Given the description of an element on the screen output the (x, y) to click on. 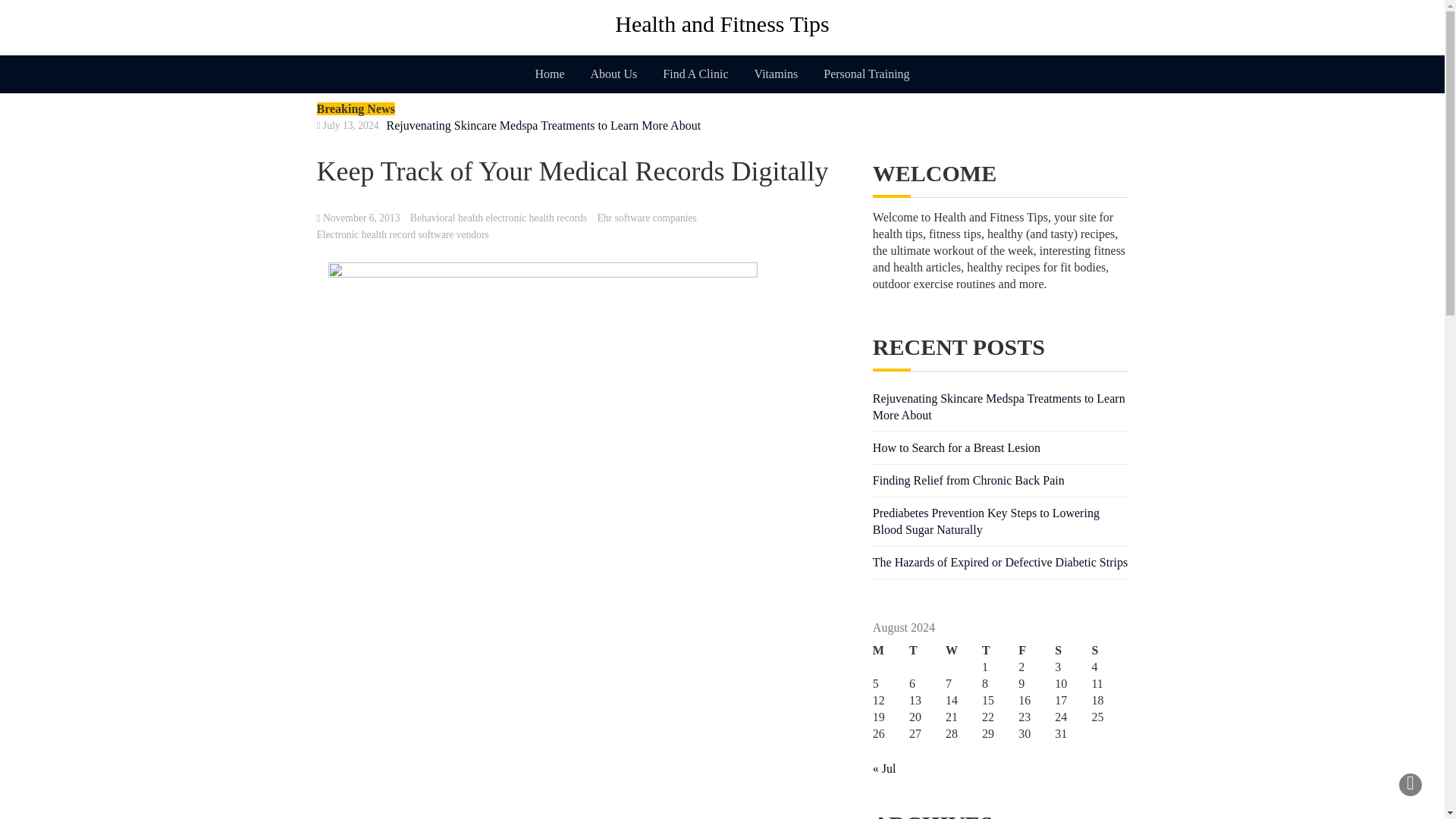
The Hazards of Expired or Defective Diabetic Strips (999, 562)
Wednesday (962, 650)
Friday (1035, 650)
Vitamins (775, 74)
Find A Clinic (694, 74)
Find A Clinic (694, 74)
Monday (890, 650)
Ehr software companies (646, 217)
About Us (614, 74)
Rejuvenating Skincare Medspa Treatments to Learn More About (998, 406)
Home (548, 74)
Thursday (999, 650)
Tuesday (926, 650)
Home (548, 74)
About Us (614, 74)
